Given the description of an element on the screen output the (x, y) to click on. 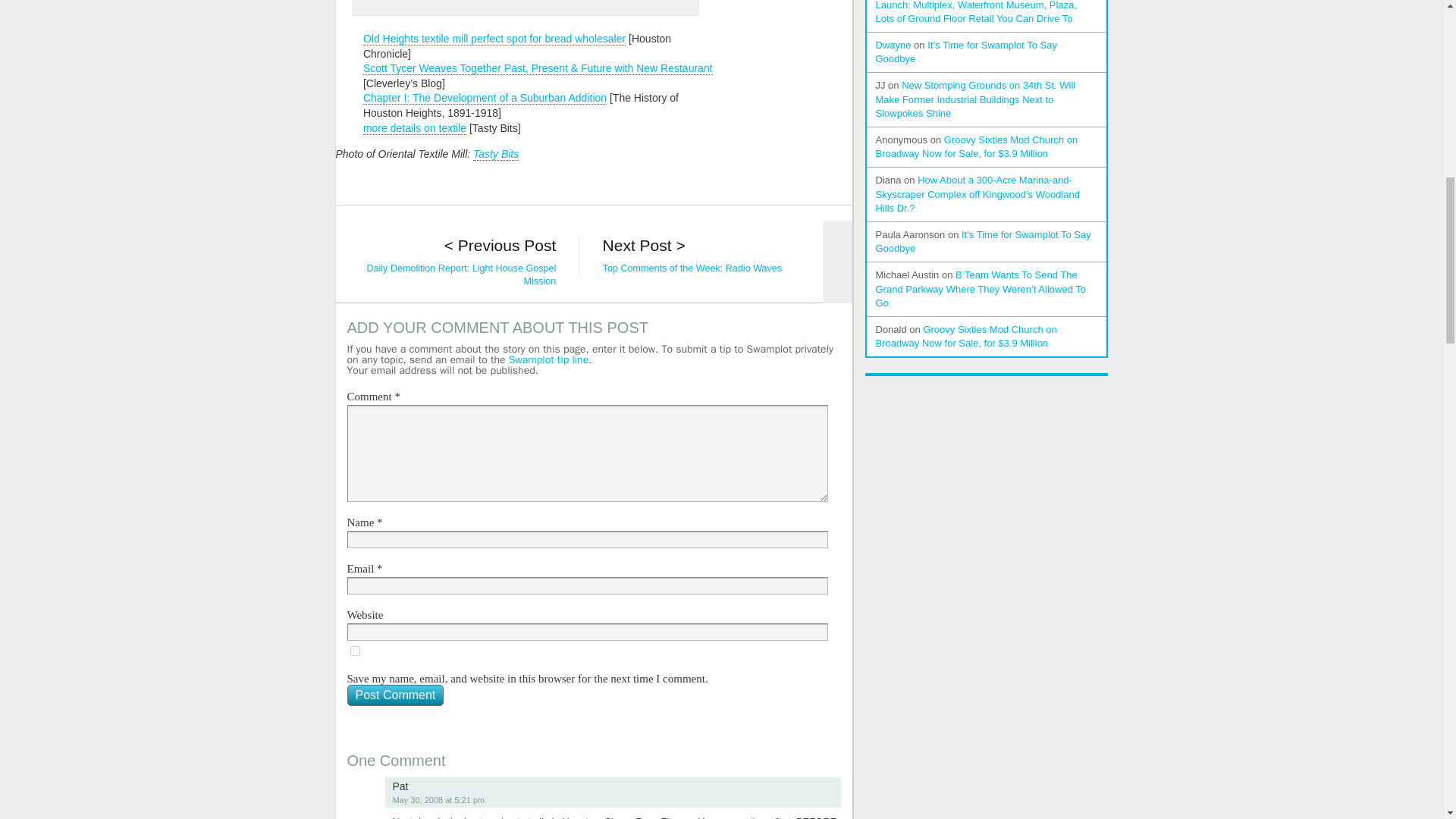
Old Heights textile mill perfect spot for bread wholesaler (494, 38)
yes (354, 651)
Chapter I: The Development of a Suburban Addition (484, 97)
Tasty Bits (495, 154)
Post Comment (395, 694)
more details on textile (413, 128)
